Given the description of an element on the screen output the (x, y) to click on. 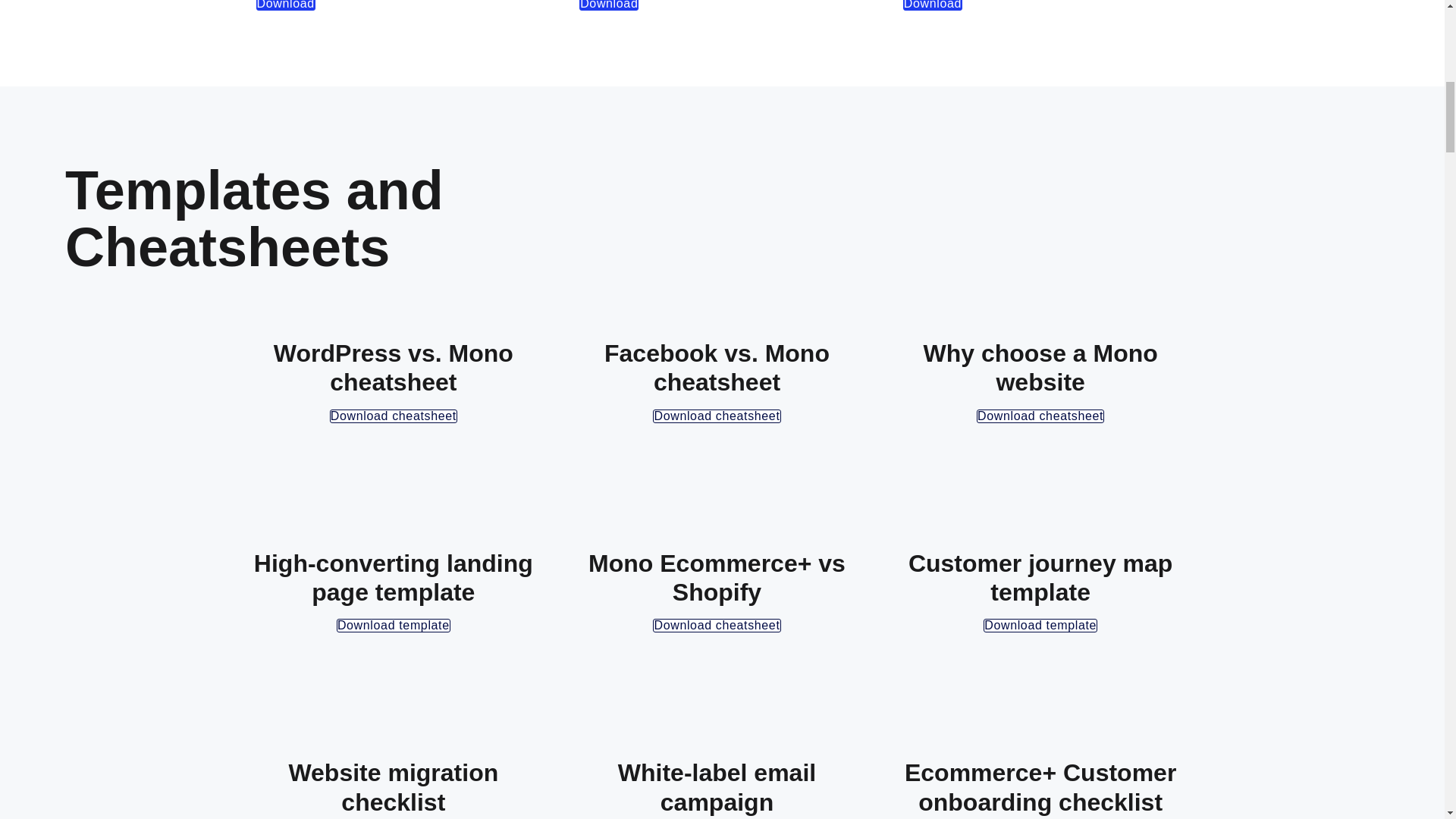
'The Buy-It-Yourself Future' report.  (932, 5)
High-converting landing page template (392, 625)
Why Mono (1039, 416)
Facebook VS. MONO (716, 416)
WORDPRESS VS. MONO (393, 416)
